Given the description of an element on the screen output the (x, y) to click on. 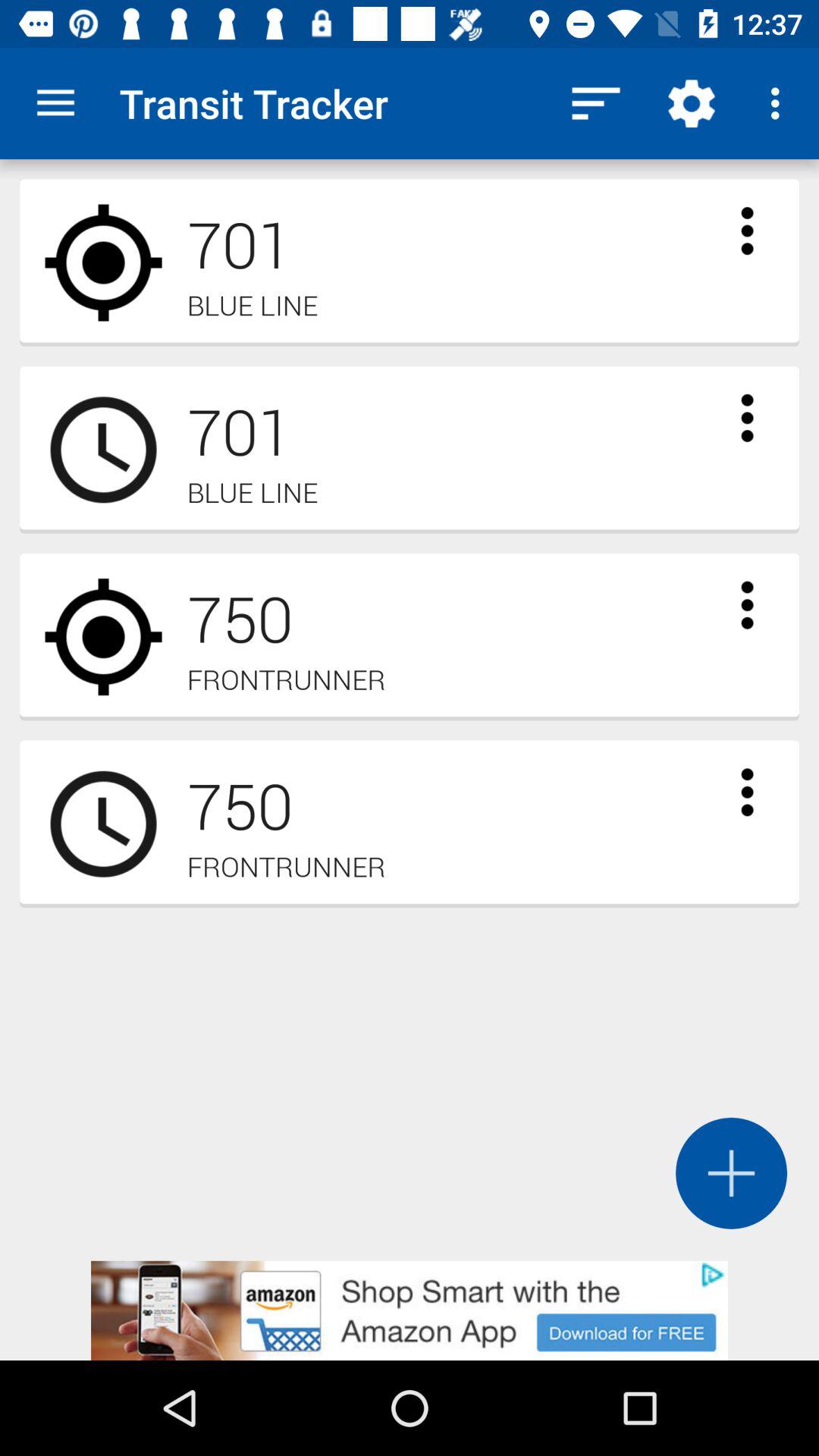
open frontrunner menu (747, 605)
